Given the description of an element on the screen output the (x, y) to click on. 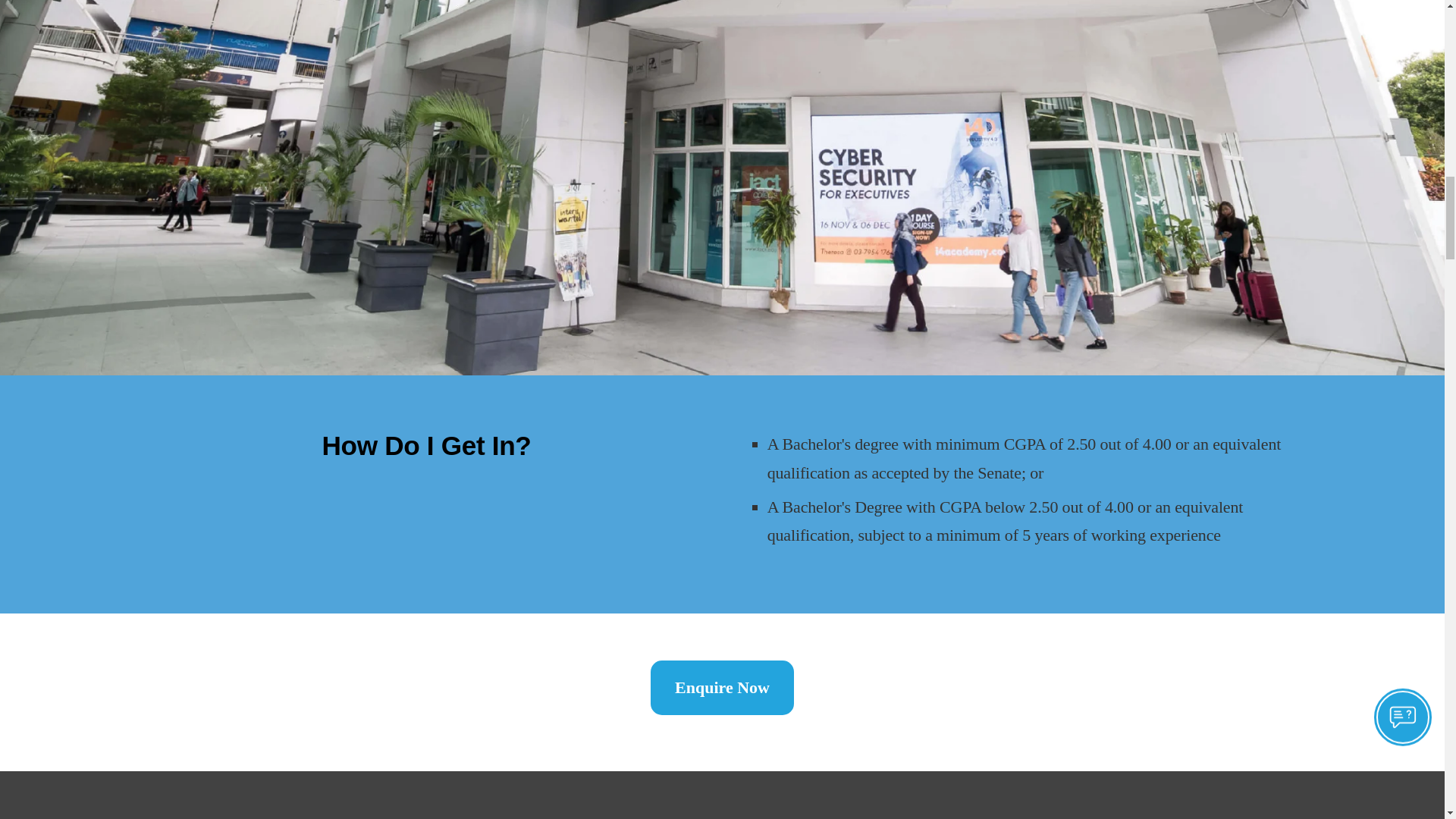
Enquire Now (721, 687)
